Given the description of an element on the screen output the (x, y) to click on. 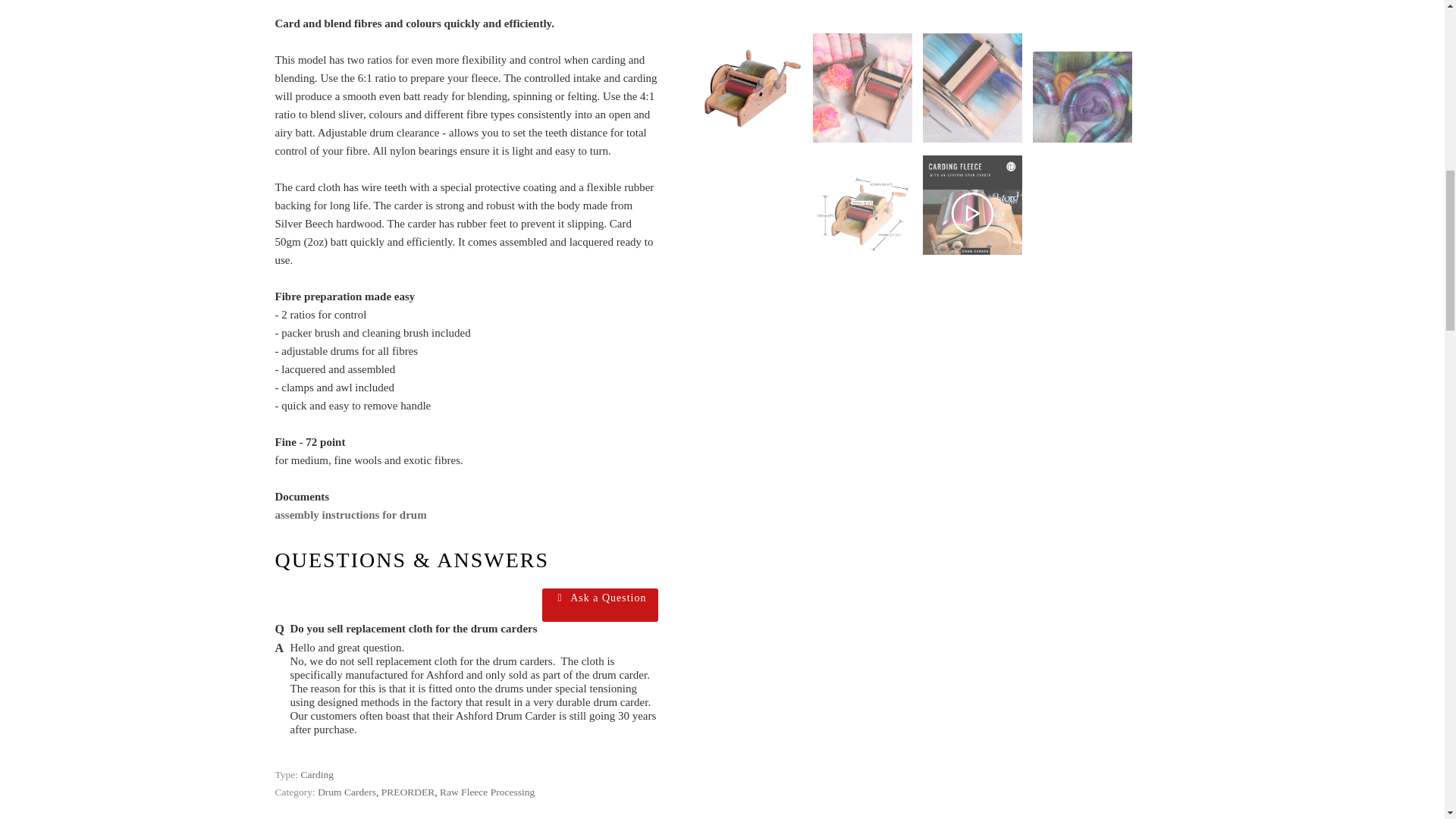
Carding (316, 774)
